Given the description of an element on the screen output the (x, y) to click on. 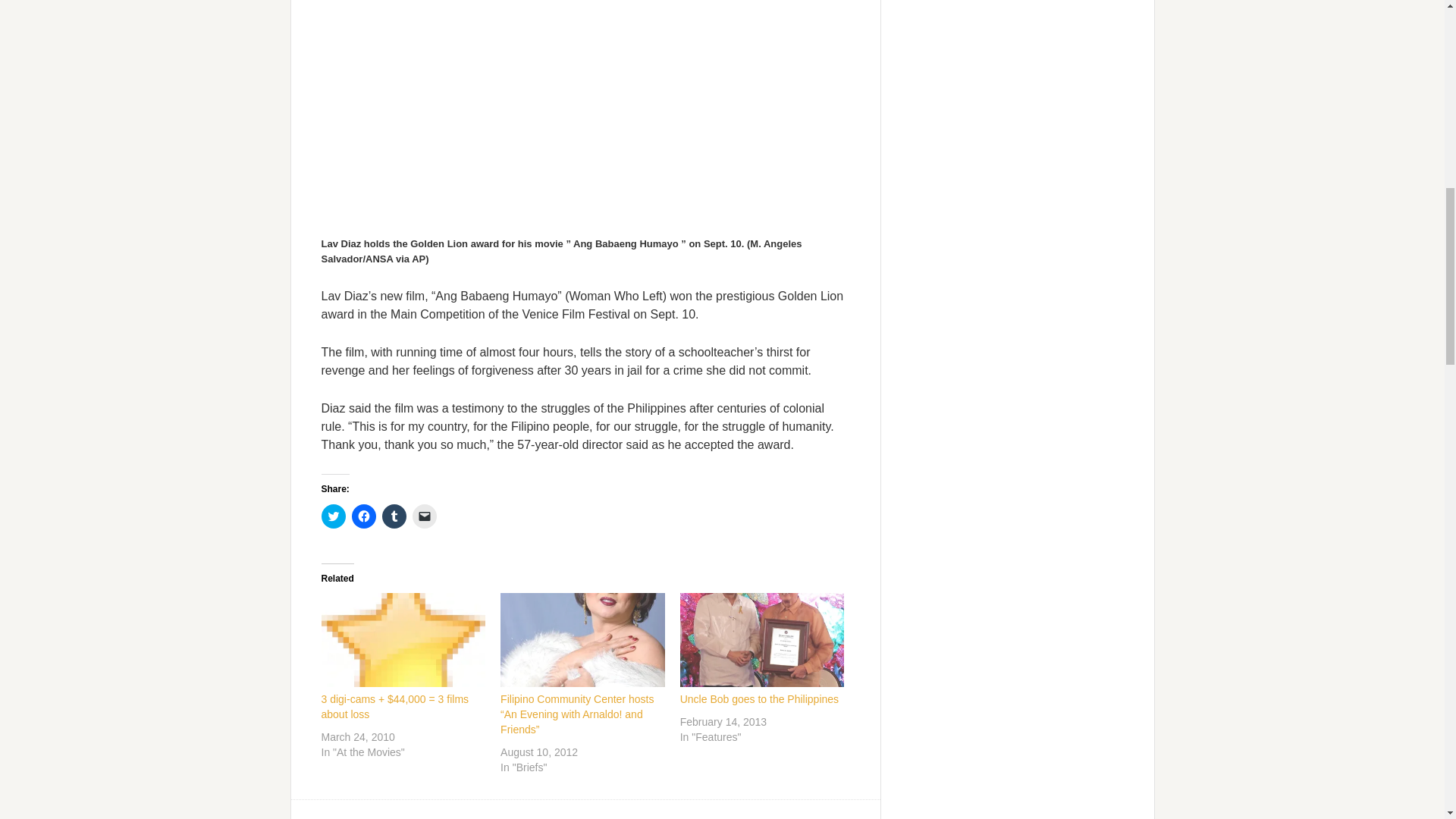
Click to share on Tumblr (393, 516)
Click to email a link to a friend (424, 516)
Click to share on Facebook (363, 516)
Uncle Bob goes to the Philippines (758, 698)
Click to share on Twitter (333, 516)
Uncle Bob goes to the Philippines (761, 639)
